Given the description of an element on the screen output the (x, y) to click on. 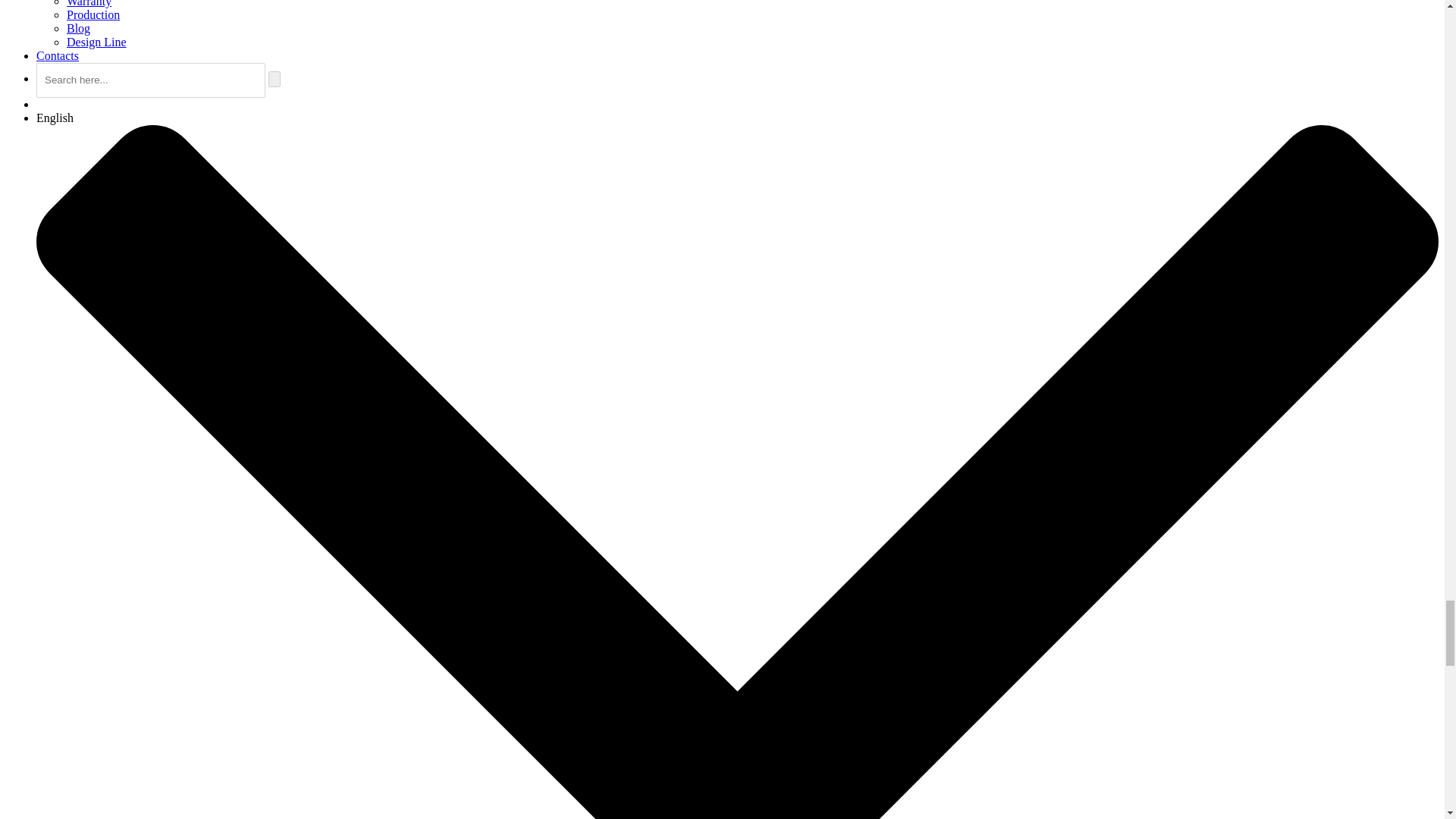
Design Line (96, 42)
Blog (78, 28)
Warranty (89, 3)
Contacts (57, 55)
Production (92, 14)
